Given the description of an element on the screen output the (x, y) to click on. 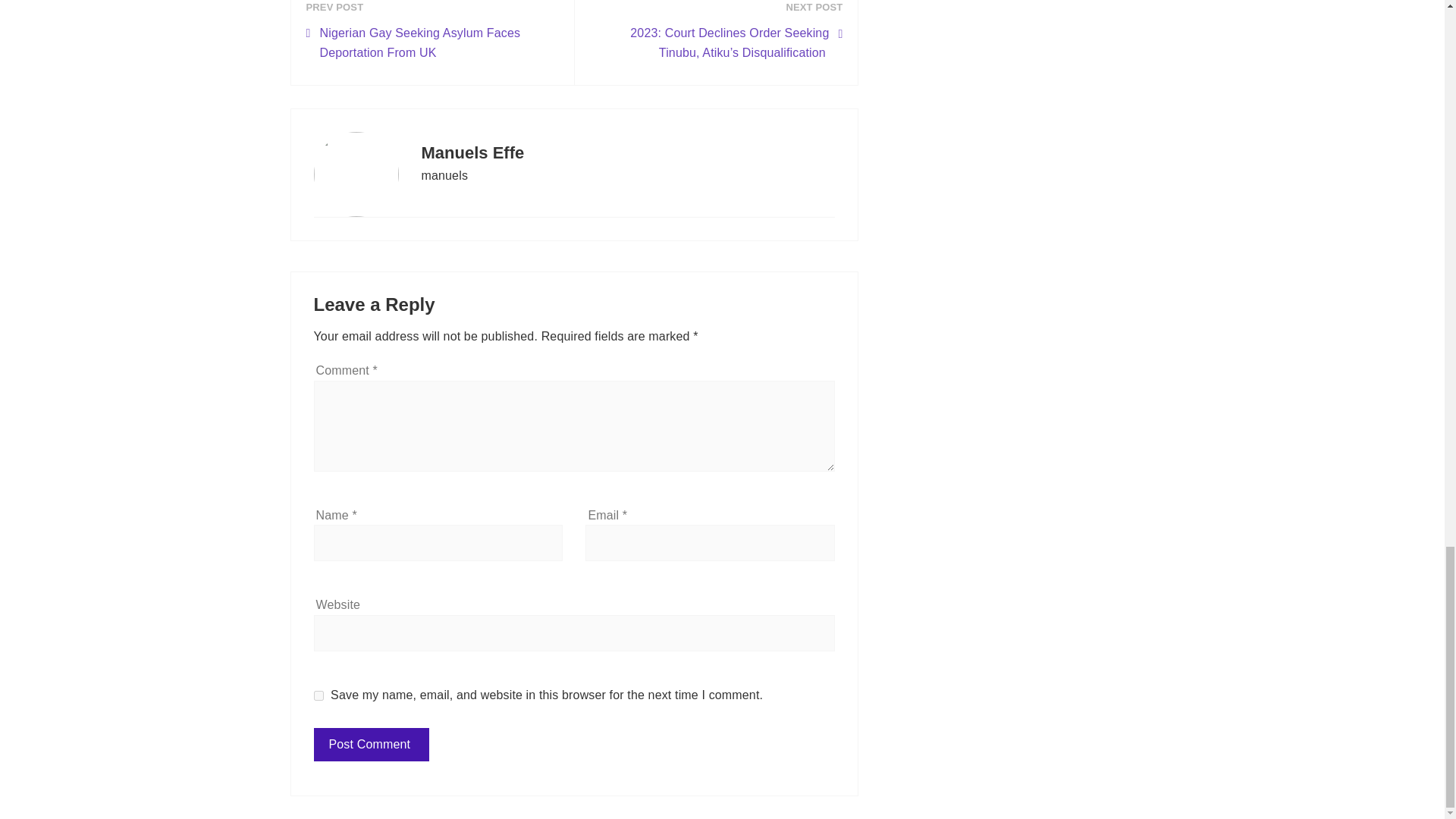
Post Comment (371, 744)
Nigerian Gay Seeking Asylum Faces Deportation From UK (432, 42)
Post Comment (371, 744)
yes (318, 696)
